Given the description of an element on the screen output the (x, y) to click on. 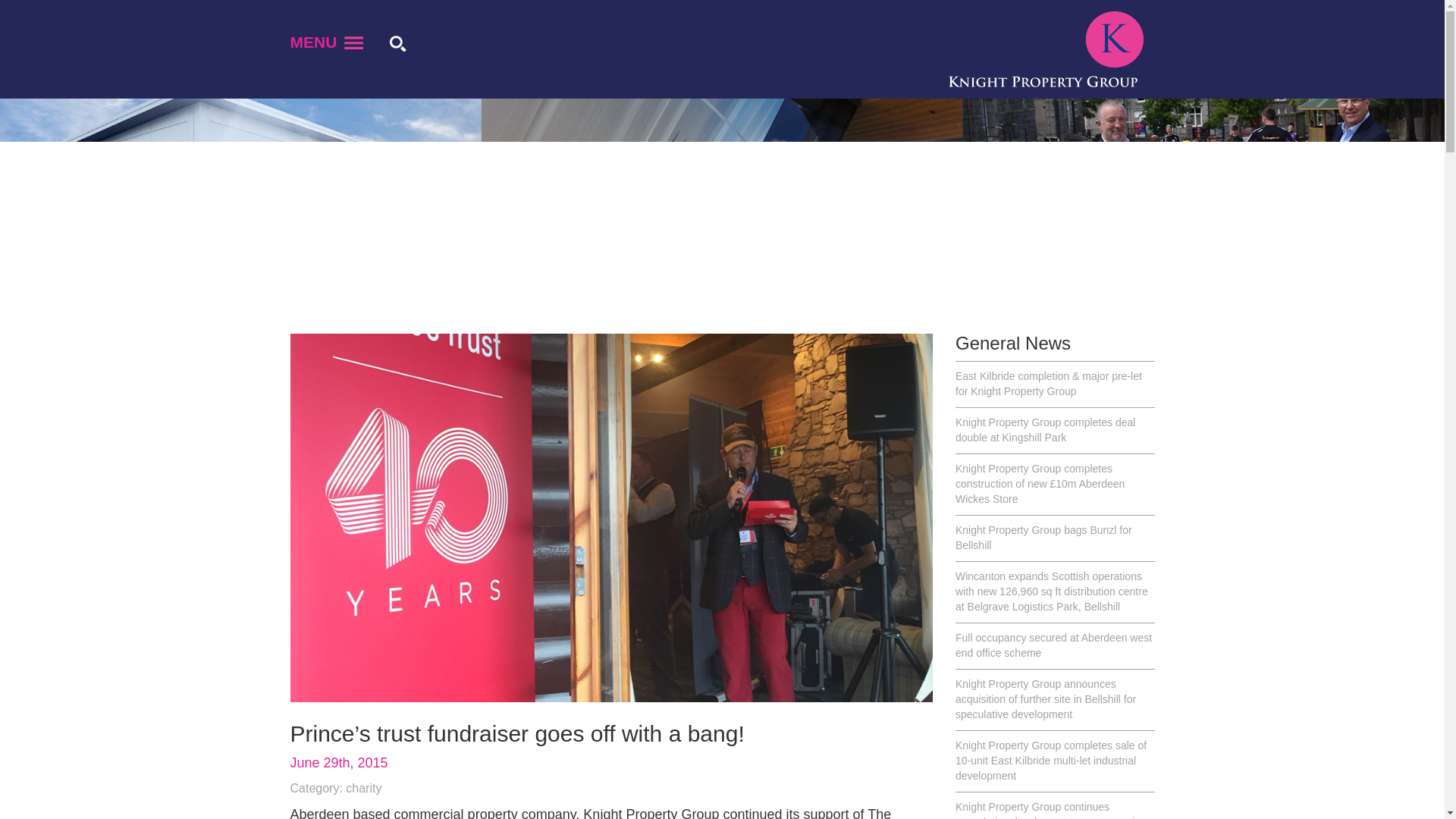
Full occupancy secured at Aberdeen west end office scheme (1054, 646)
MENU (325, 46)
